Given the description of an element on the screen output the (x, y) to click on. 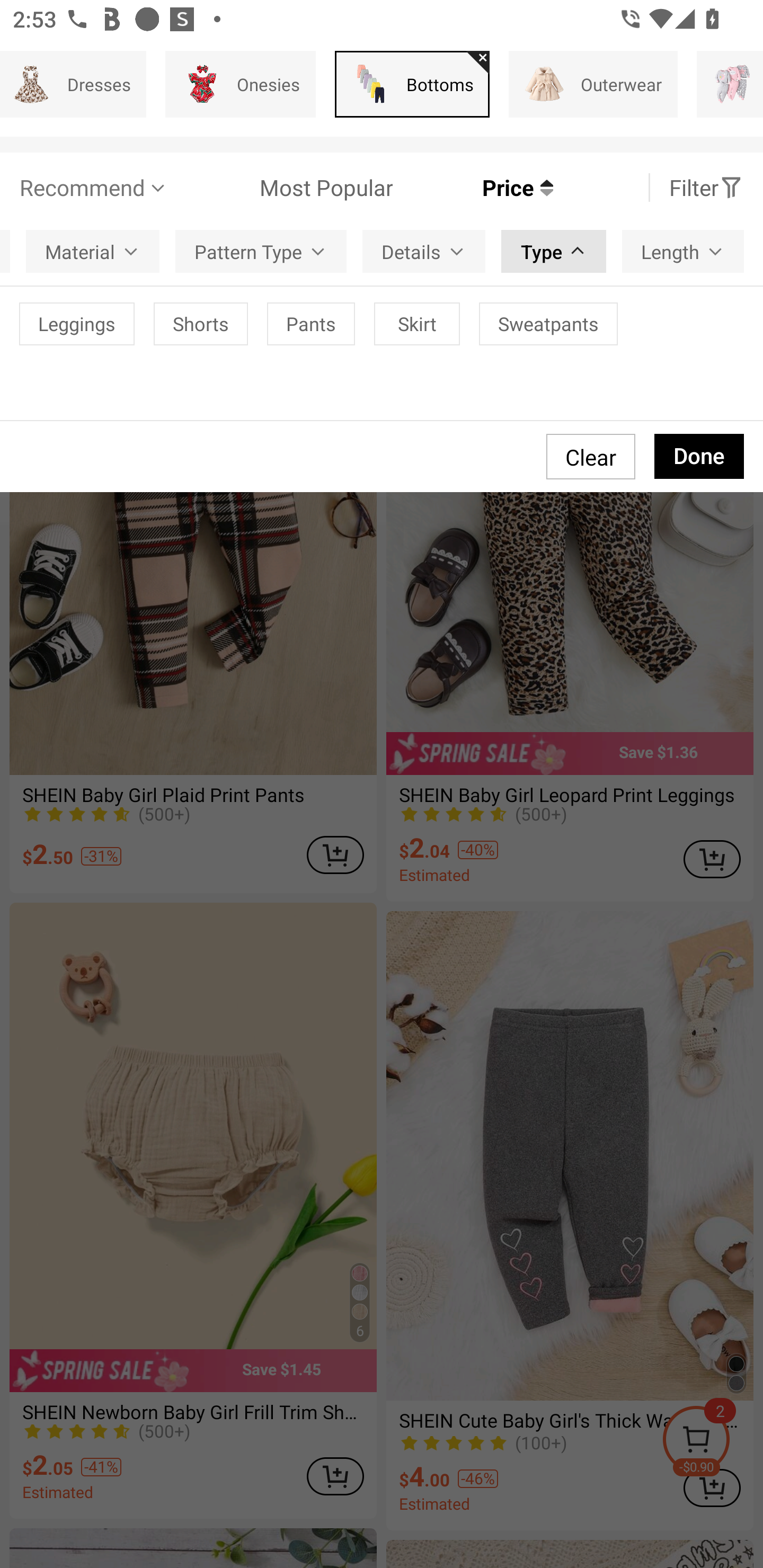
Dresses (73, 83)
Onesies (240, 83)
Bottoms (411, 83)
Outerwear (592, 83)
Recommend (93, 187)
Most Popular (280, 187)
Price (472, 187)
Filter (705, 187)
Material (92, 251)
Pattern Type (260, 251)
Details (423, 251)
Type (553, 251)
Length (682, 251)
